Given the description of an element on the screen output the (x, y) to click on. 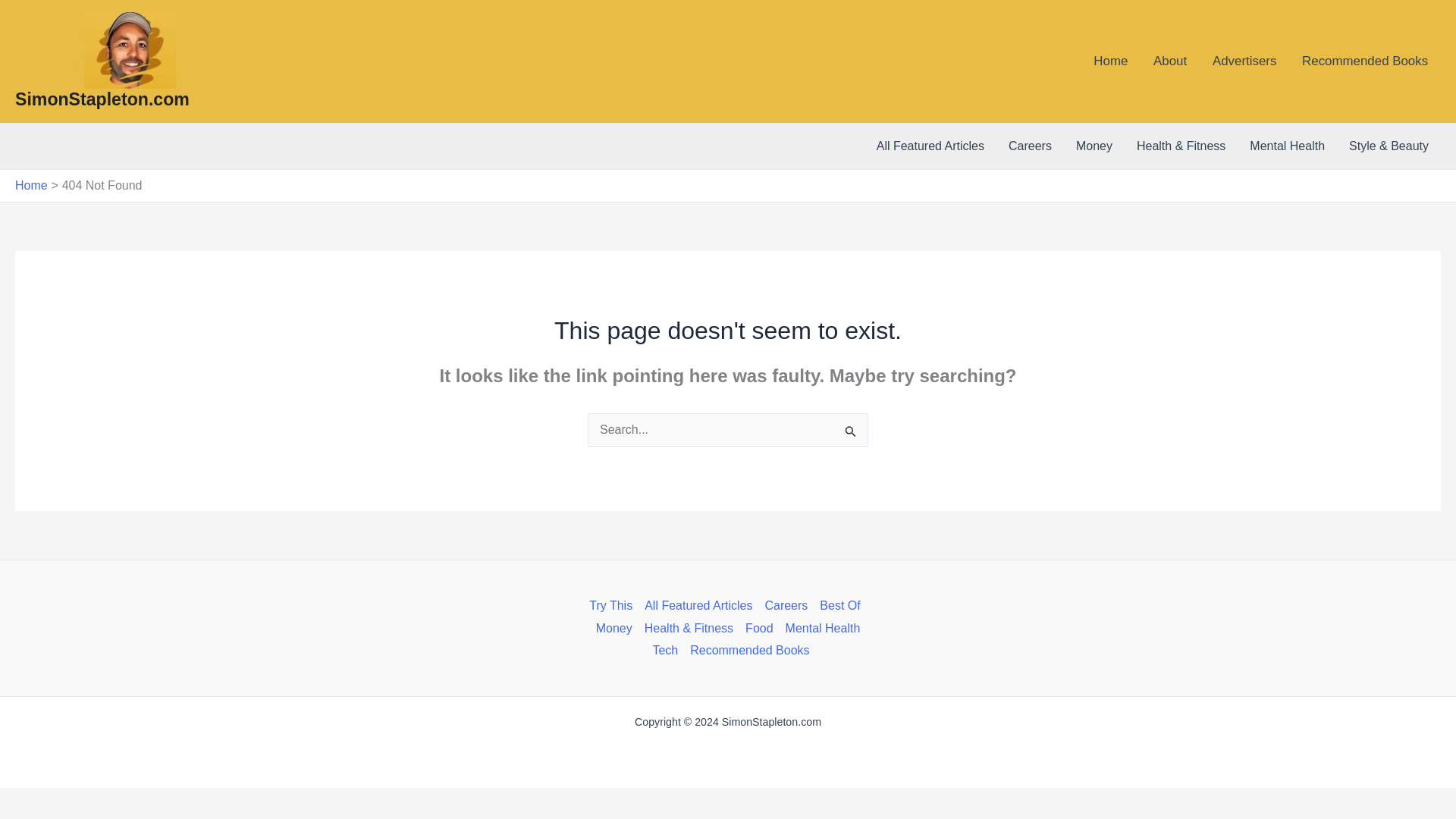
Careers (1029, 145)
Recommended Books (1364, 61)
Try This (614, 605)
Mental Health (822, 628)
Money (614, 628)
Food (758, 628)
Home (1110, 61)
Home (31, 185)
All Featured Articles (698, 605)
Mental Health (1286, 145)
